Given the description of an element on the screen output the (x, y) to click on. 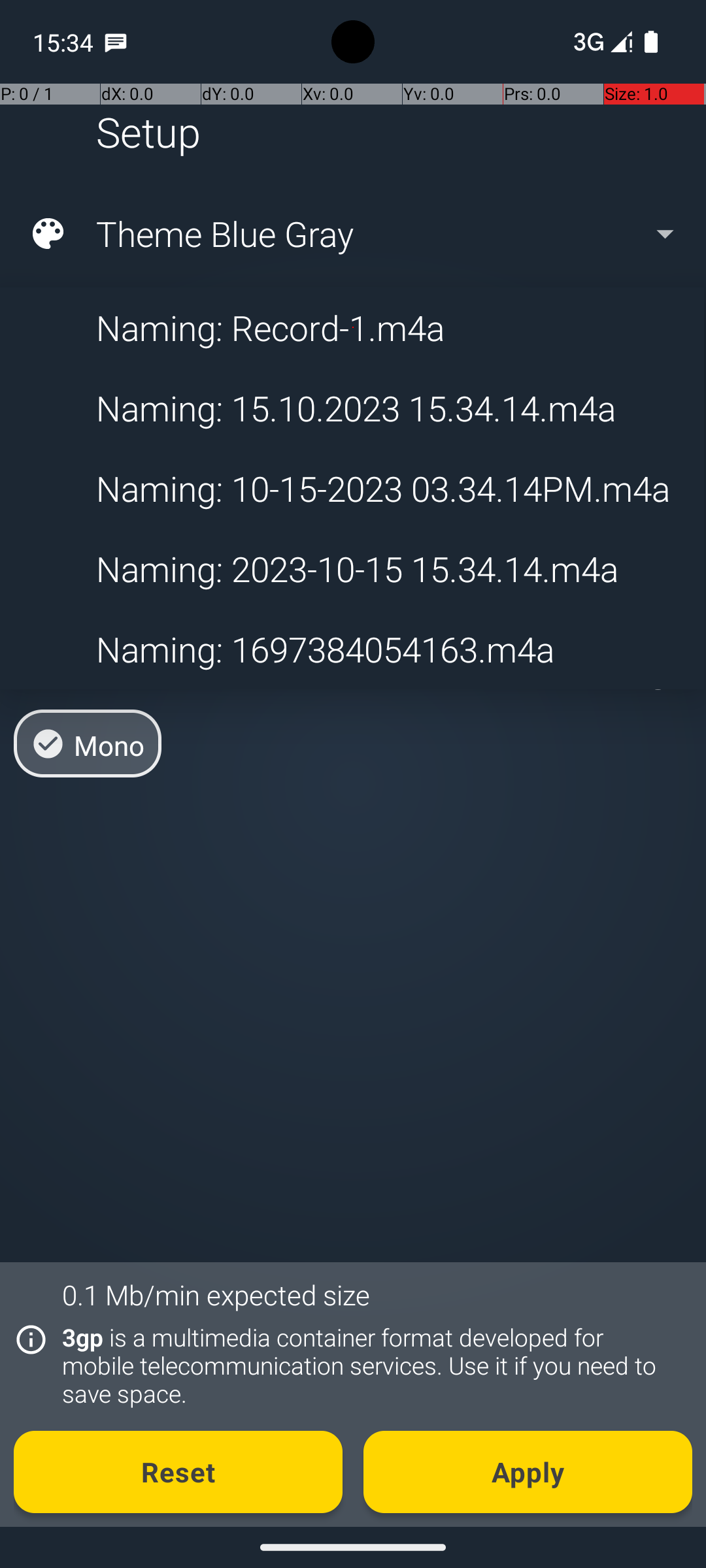
Naming: 15.10.2023 15.34.14.m4a Element type: android.widget.TextView (352, 407)
Naming: 10-15-2023 03.34.14PM.m4a Element type: android.widget.TextView (352, 488)
Naming: 2023-10-15 15.34.14.m4a Element type: android.widget.TextView (352, 568)
Naming: 1697384054163.m4a Element type: android.widget.TextView (352, 648)
Phone three bars. Element type: android.widget.FrameLayout (600, 41)
